Given the description of an element on the screen output the (x, y) to click on. 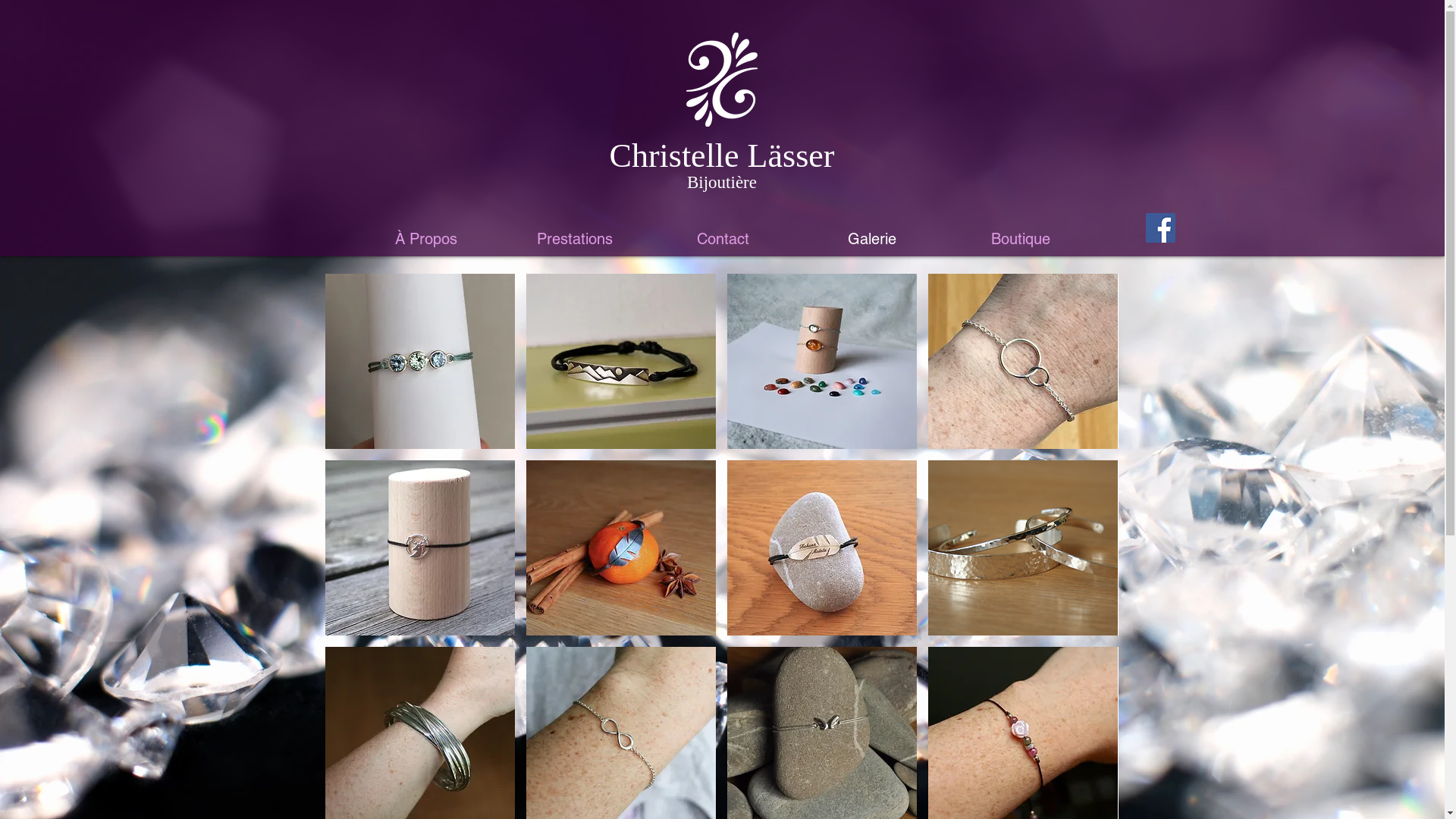
Prestations Element type: text (574, 239)
Tampon.png Element type: hover (720, 79)
Boutique Element type: text (1020, 239)
Contact Element type: text (723, 239)
Galerie Element type: text (871, 239)
